Given the description of an element on the screen output the (x, y) to click on. 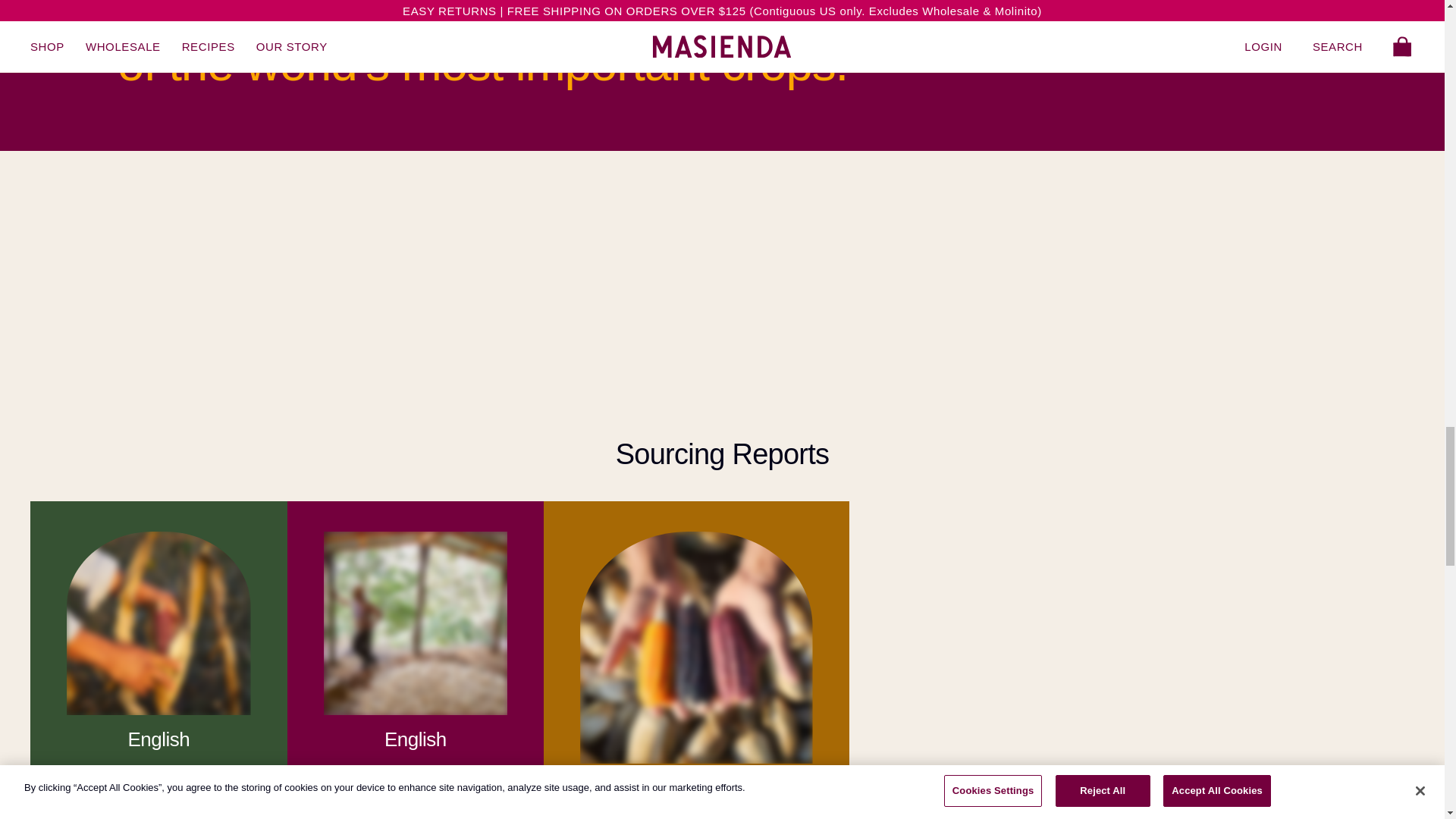
Video (227, 264)
